Given the description of an element on the screen output the (x, y) to click on. 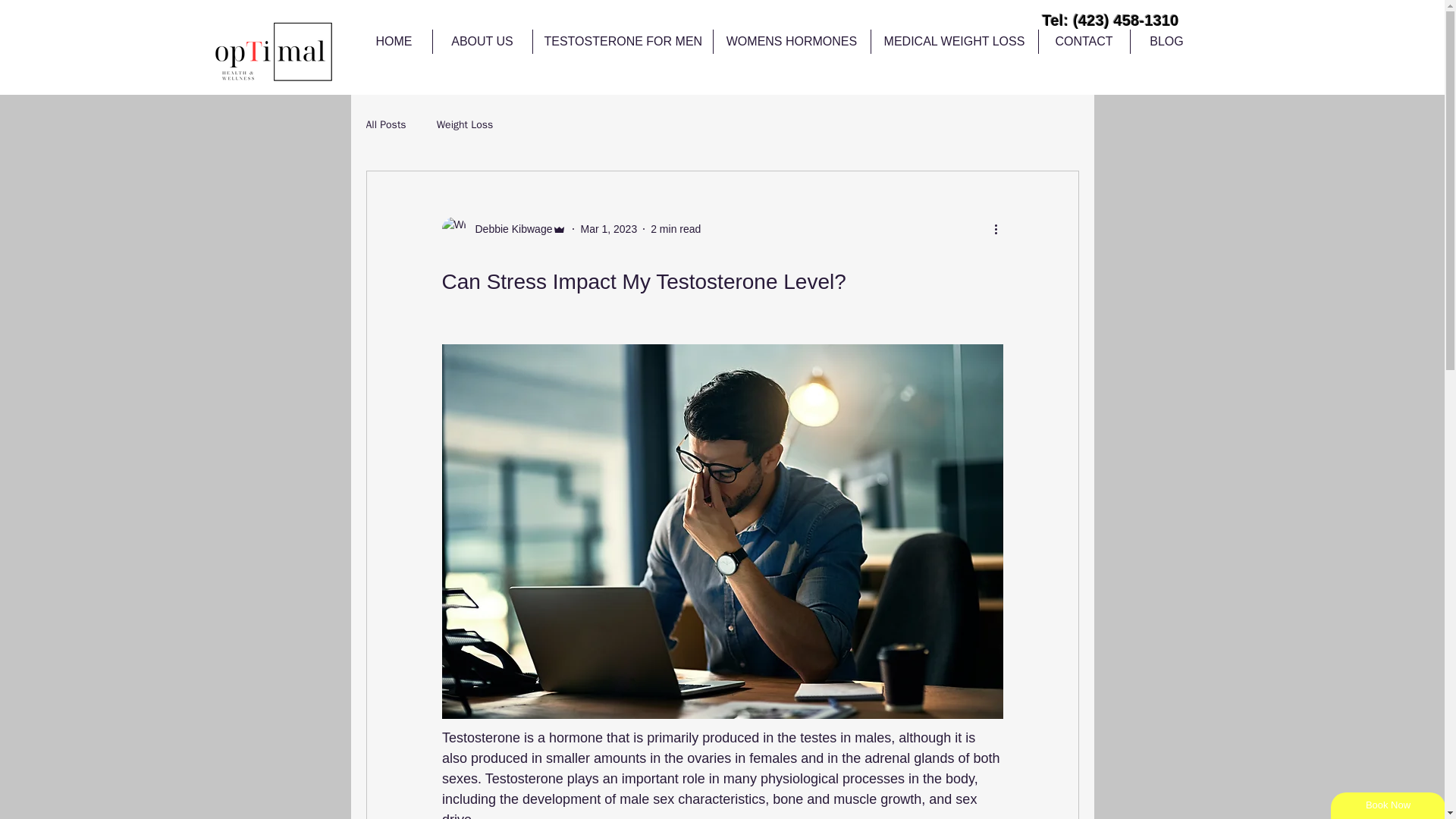
All Posts (385, 124)
Mar 1, 2023 (608, 228)
MEDICAL WEIGHT LOSS (953, 41)
HOME (394, 41)
WOMENS HORMONES (791, 41)
2 min read (675, 228)
Weight Loss (464, 124)
CONTACT (1084, 41)
BLOG (1165, 41)
Debbie Kibwage (508, 229)
ABOUT US (481, 41)
Debbie Kibwage (503, 228)
TESTOSTERONE FOR MEN (621, 41)
